Given the description of an element on the screen output the (x, y) to click on. 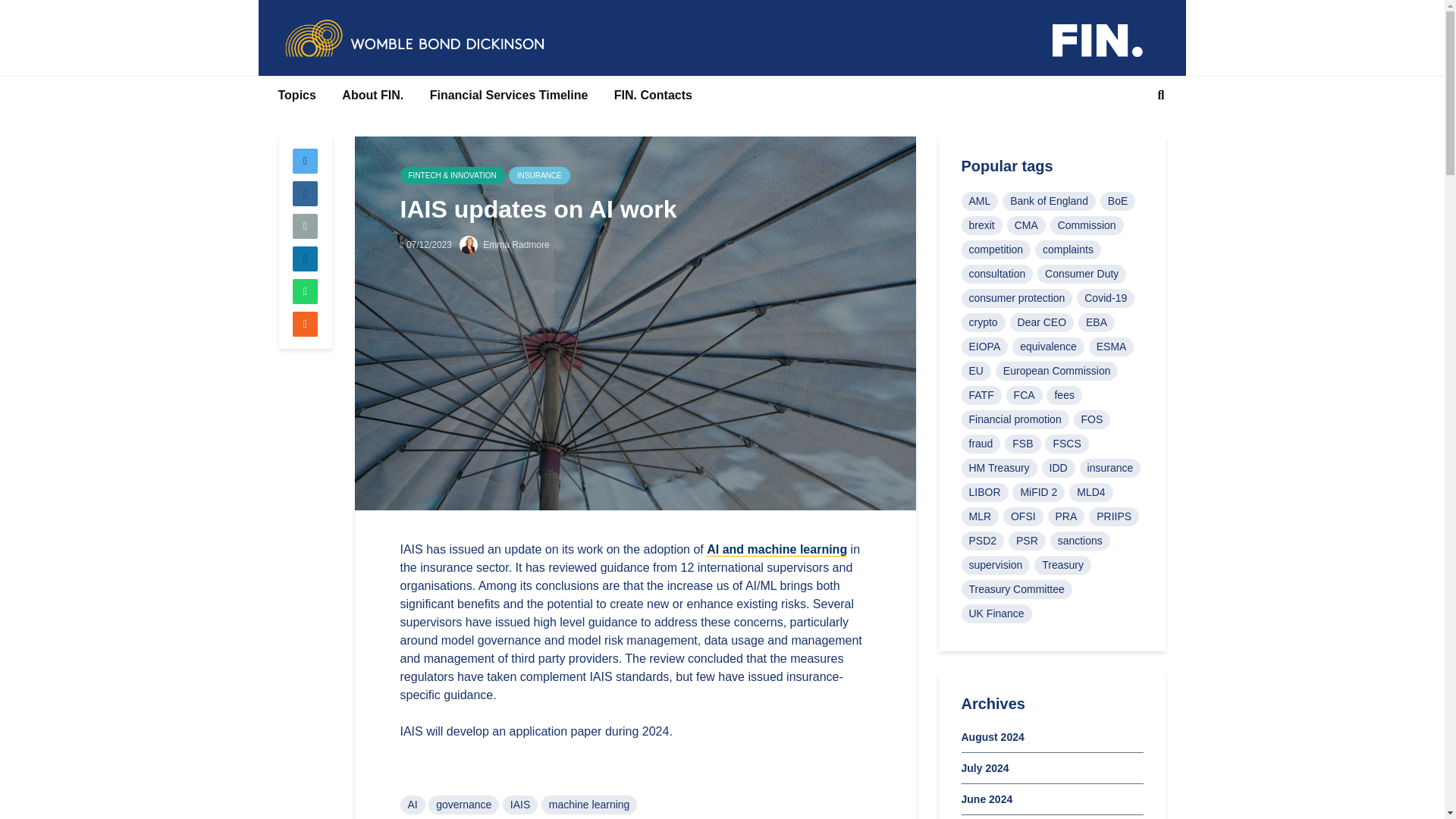
Financial Services Timeline (509, 95)
Topics (296, 95)
FIN. Contacts (652, 95)
About FIN. (372, 95)
INSURANCE (539, 175)
